Given the description of an element on the screen output the (x, y) to click on. 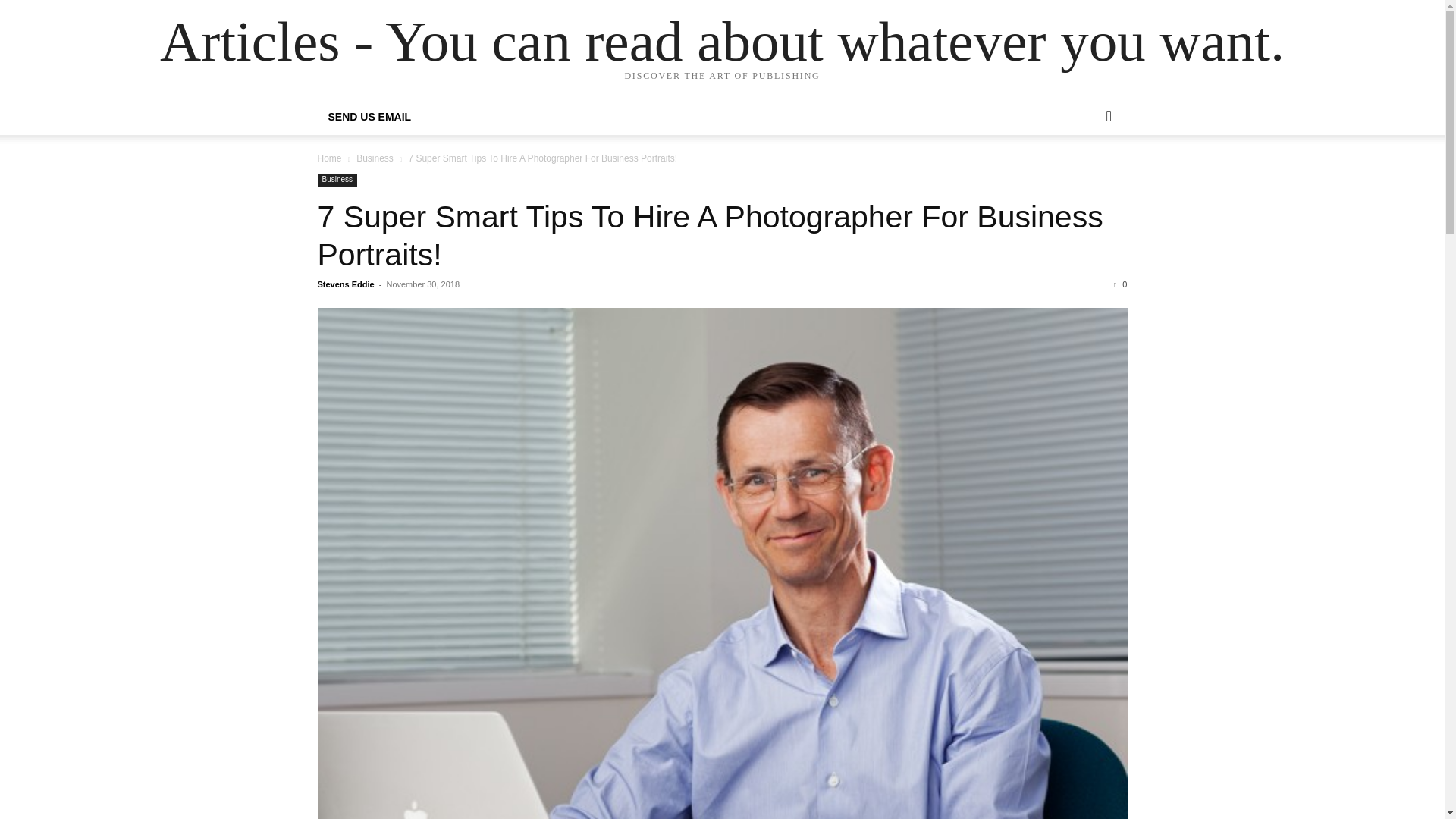
Business (336, 179)
View all posts in Business (374, 158)
0 (1119, 284)
SEND US EMAIL (369, 116)
Search (1085, 177)
Articles - You can read about whatever you want. (722, 41)
Business (374, 158)
Home (328, 158)
Stevens Eddie (345, 284)
